Given the description of an element on the screen output the (x, y) to click on. 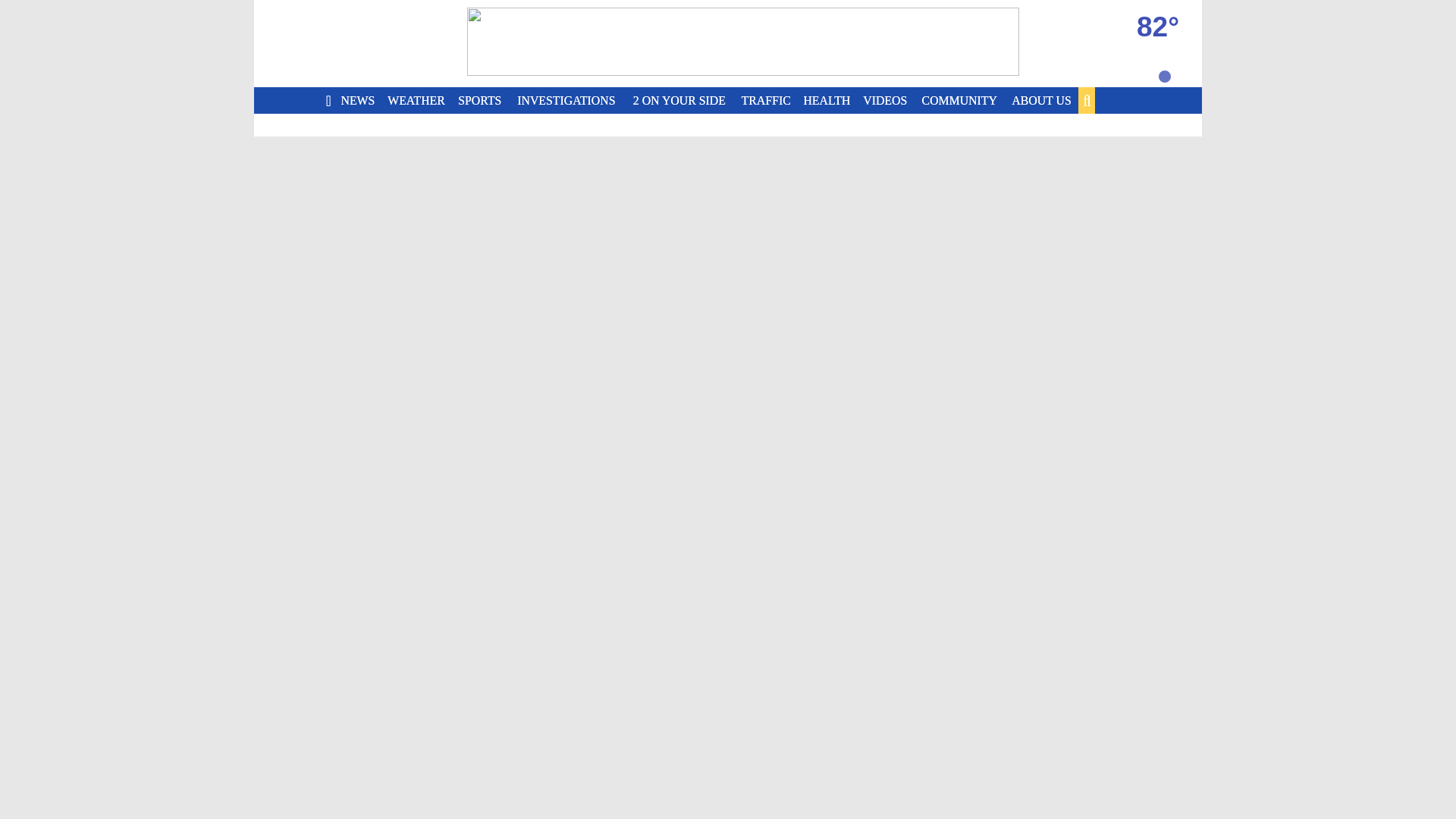
NEWS (359, 100)
Home (363, 43)
SPORTS (482, 100)
WEATHER (419, 100)
